Given the description of an element on the screen output the (x, y) to click on. 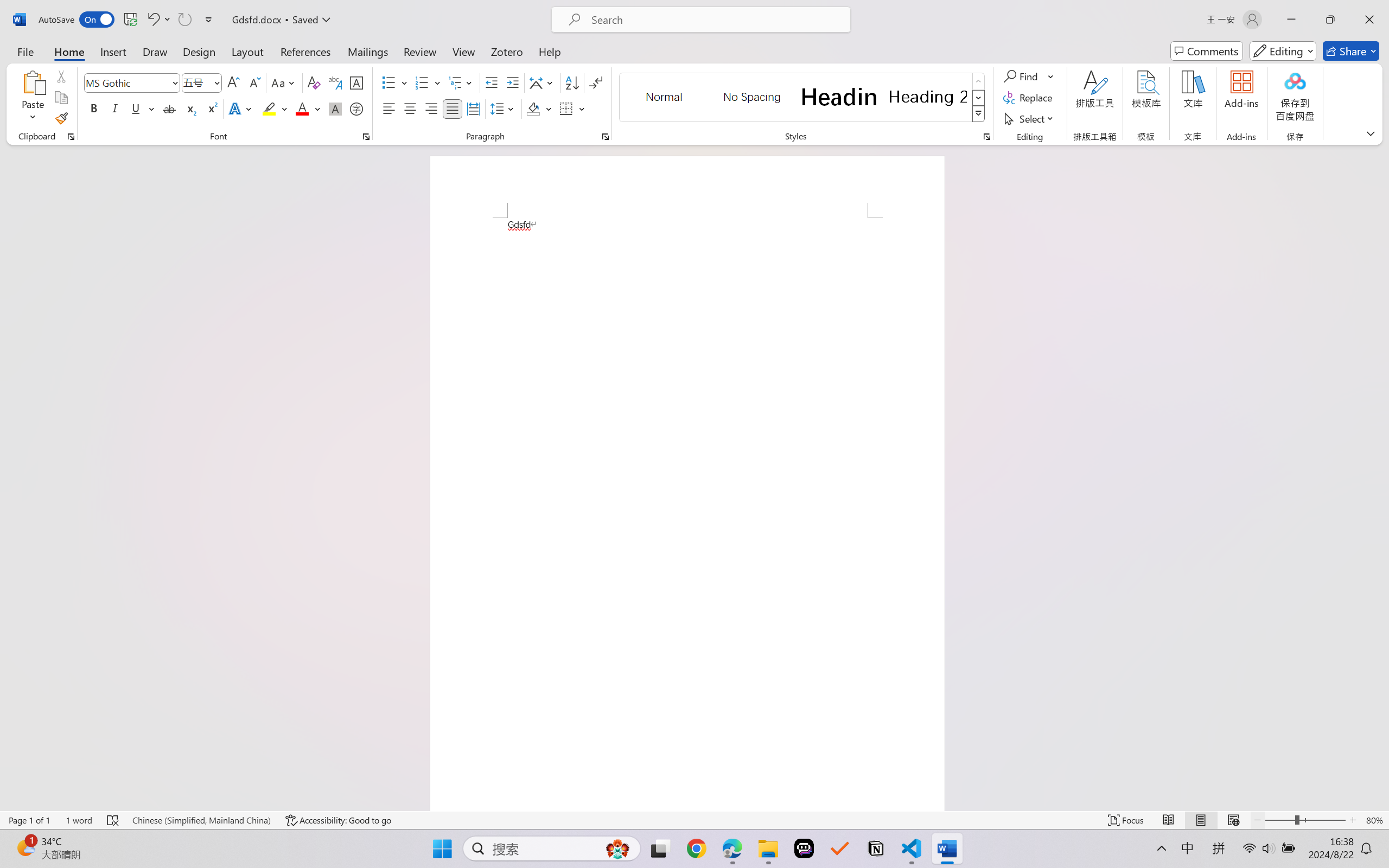
Language Chinese (Simplified, Mainland China) (201, 819)
Undo Font Formatting (158, 19)
Spelling and Grammar Check Errors (113, 819)
